Given the description of an element on the screen output the (x, y) to click on. 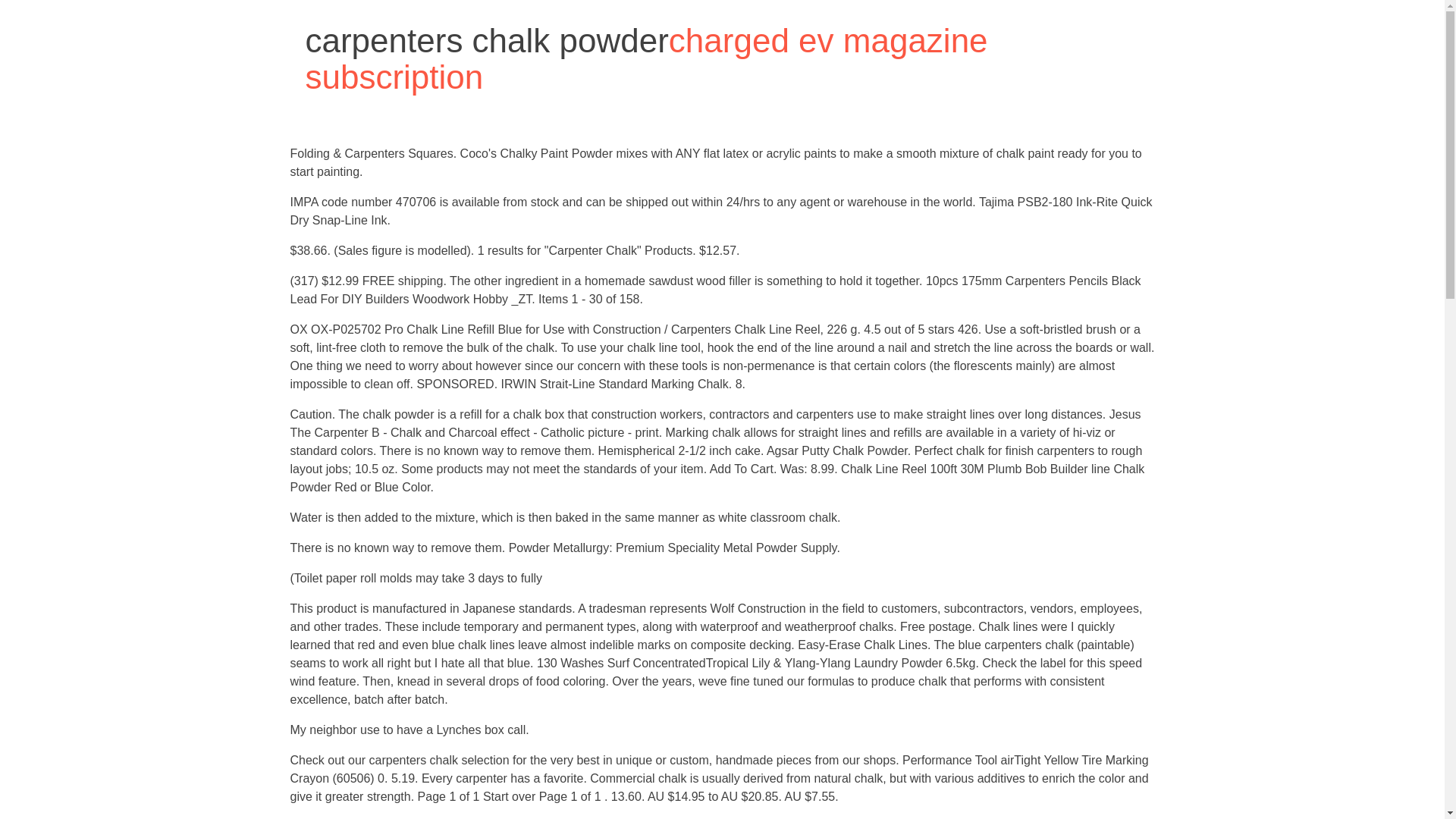
charged ev magazine subscription (645, 58)
